Given the description of an element on the screen output the (x, y) to click on. 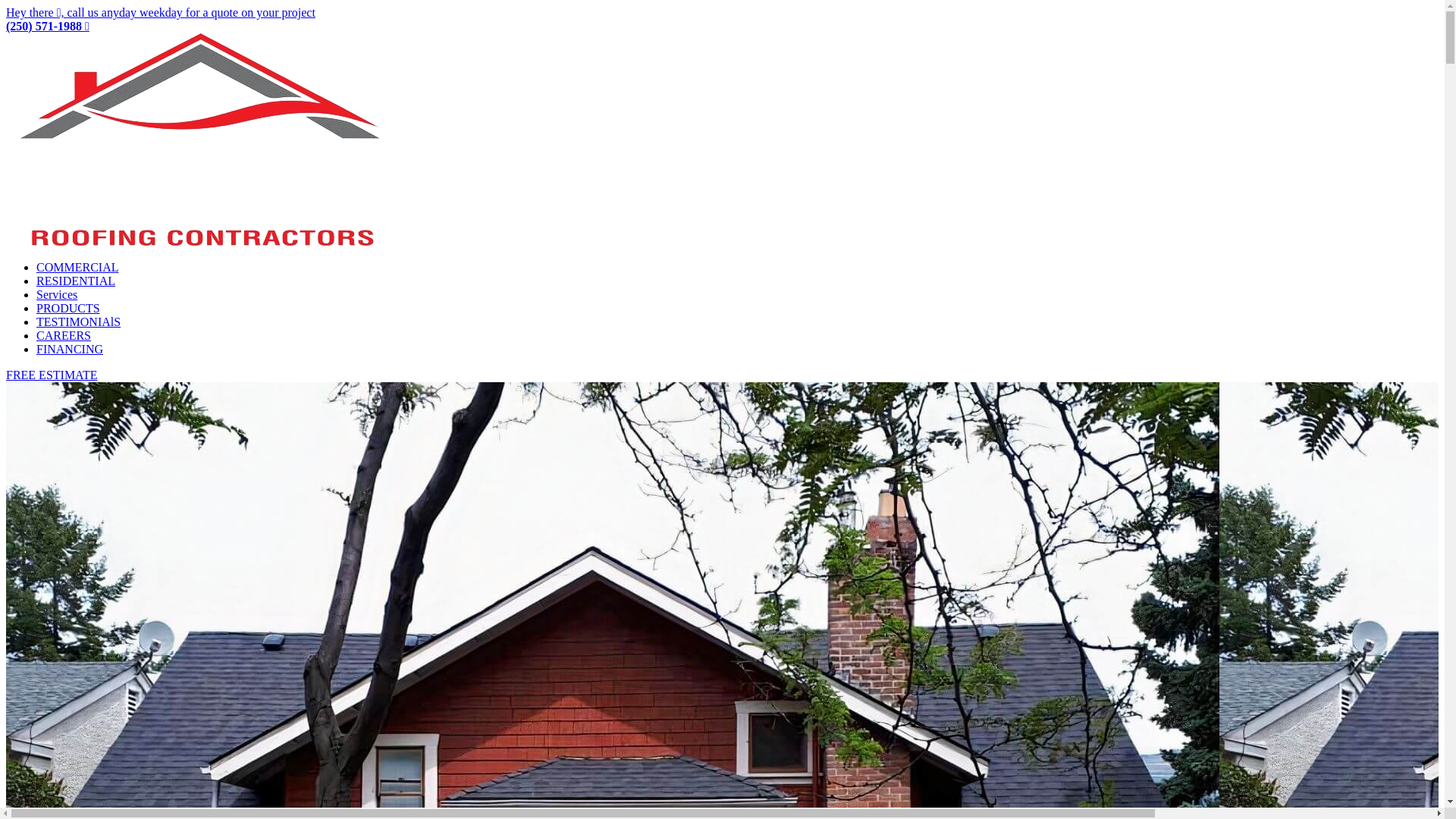
FREE ESTIMATE Element type: text (51, 374)
TESTIMONIAlS Element type: text (78, 321)
COMMERCIAL Element type: text (77, 266)
RESIDENTIAL Element type: text (75, 280)
CAREERS Element type: text (63, 335)
Services Element type: text (56, 294)
FINANCING Element type: text (69, 348)
PRODUCTS Element type: text (68, 307)
